Given the description of an element on the screen output the (x, y) to click on. 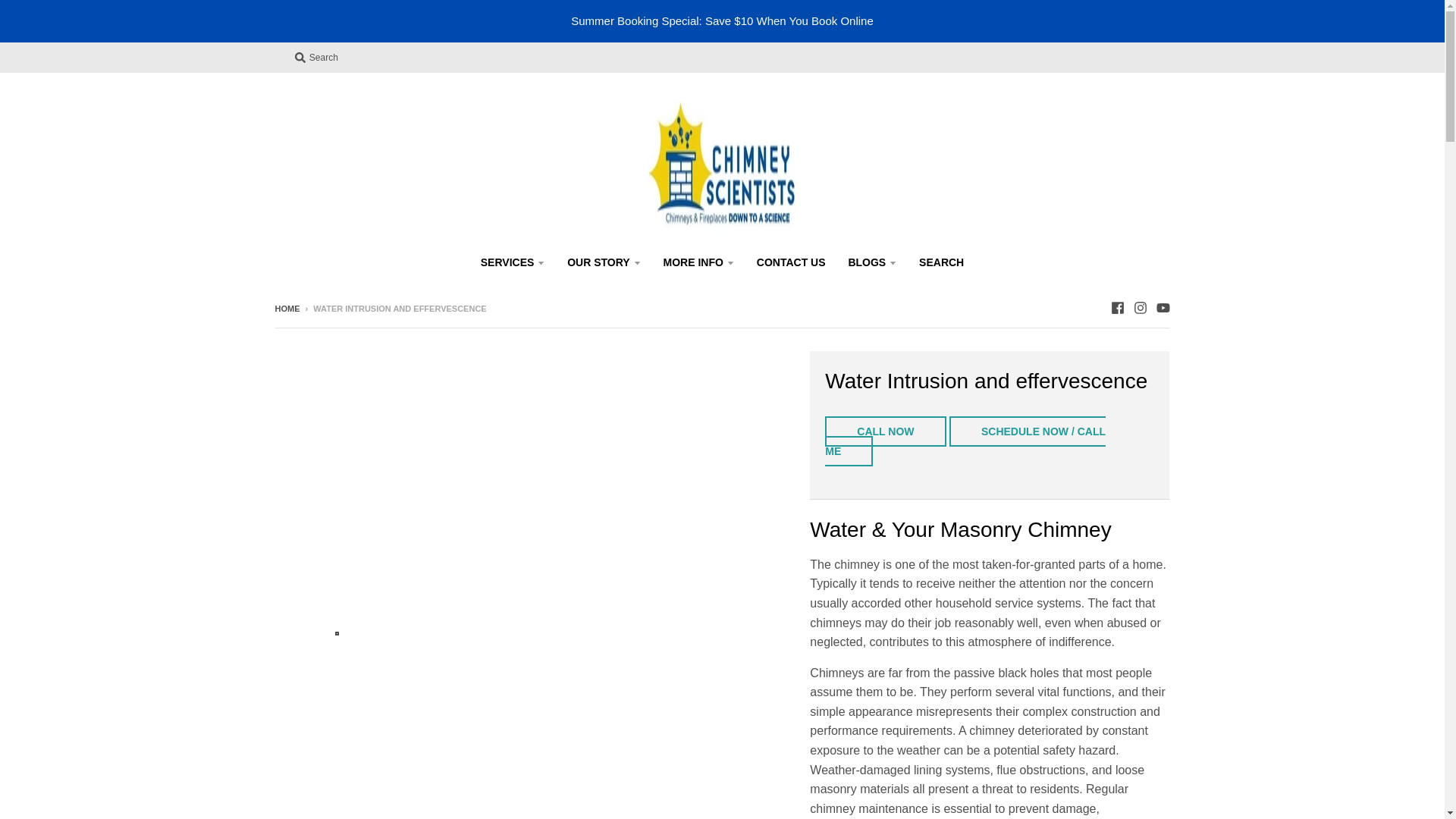
Back to the frontpage (287, 307)
Facebook - Chimney Scientist (1116, 307)
YouTube - Chimney Scientist (1162, 307)
Search (315, 56)
Instagram - Chimney Scientist (1139, 307)
